Given the description of an element on the screen output the (x, y) to click on. 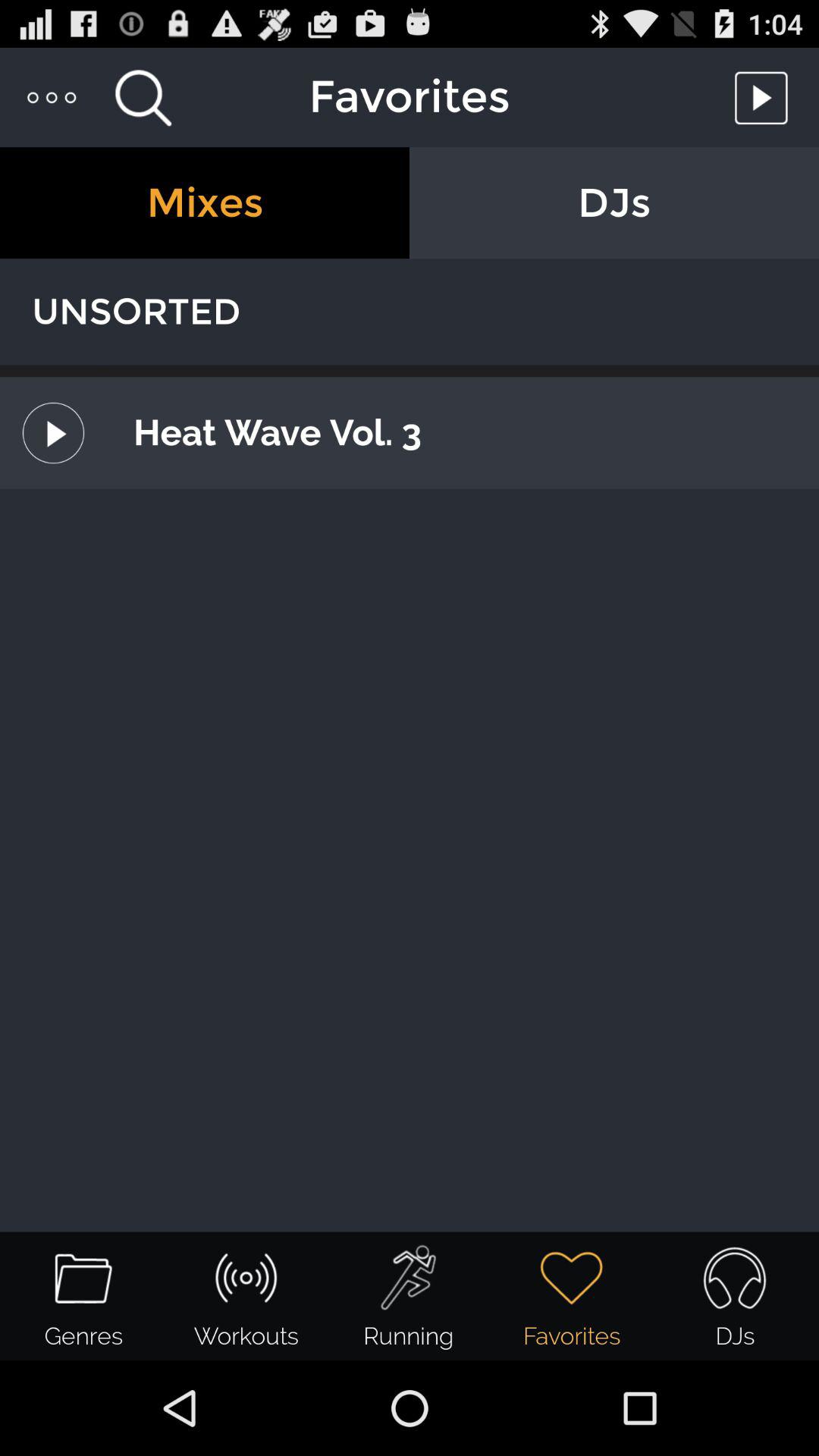
play favorites (765, 97)
